Given the description of an element on the screen output the (x, y) to click on. 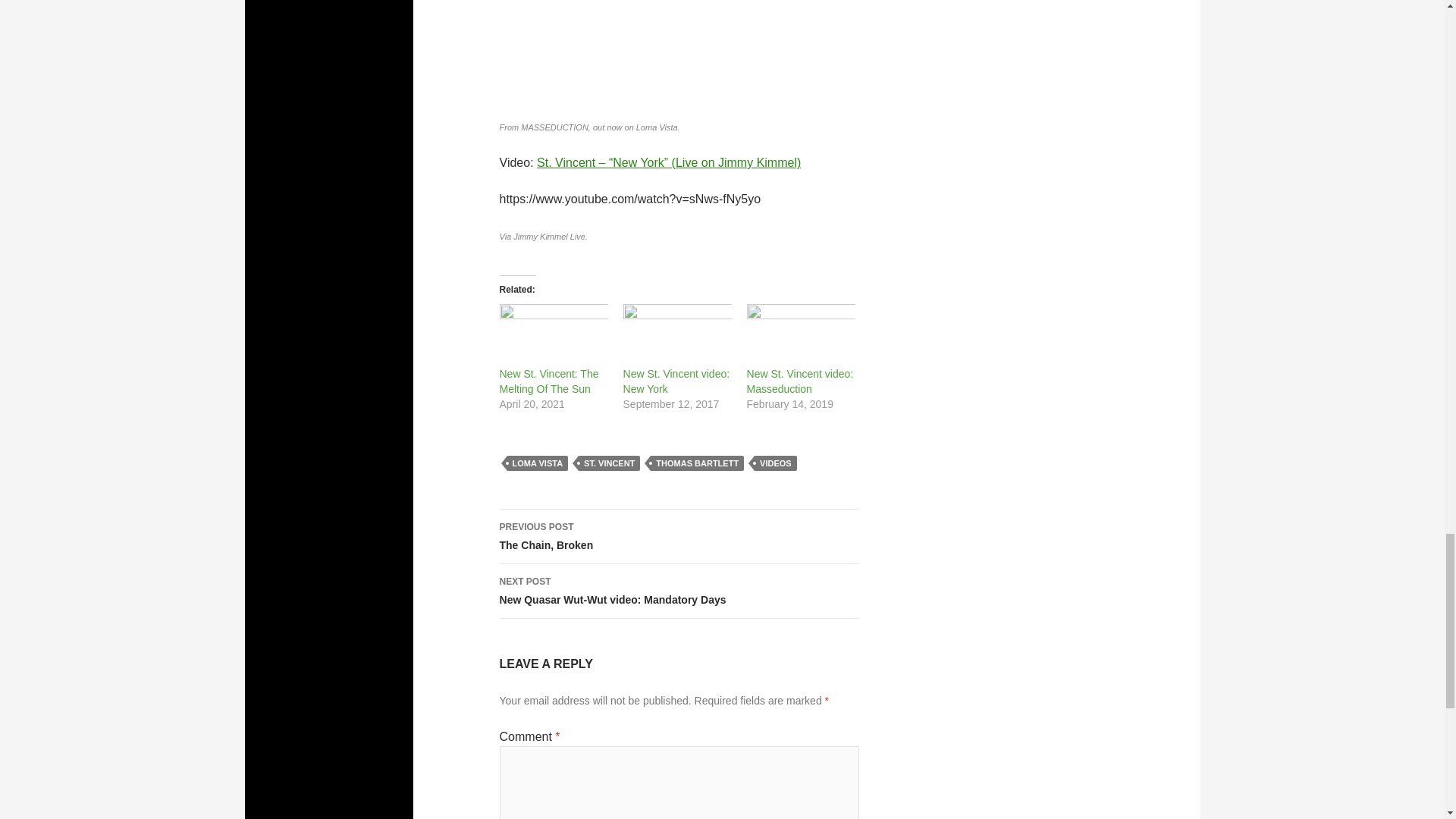
New St. Vincent video: New York (677, 334)
New St. Vincent: The Melting Of The Sun (553, 334)
Savior (679, 56)
New St. Vincent video: Masseduction (801, 334)
New St. Vincent video: New York (676, 380)
New St. Vincent video: Masseduction (799, 380)
LOMA VISTA (536, 462)
New St. Vincent: The Melting Of The Sun (548, 380)
ST. VINCENT (679, 591)
